Given the description of an element on the screen output the (x, y) to click on. 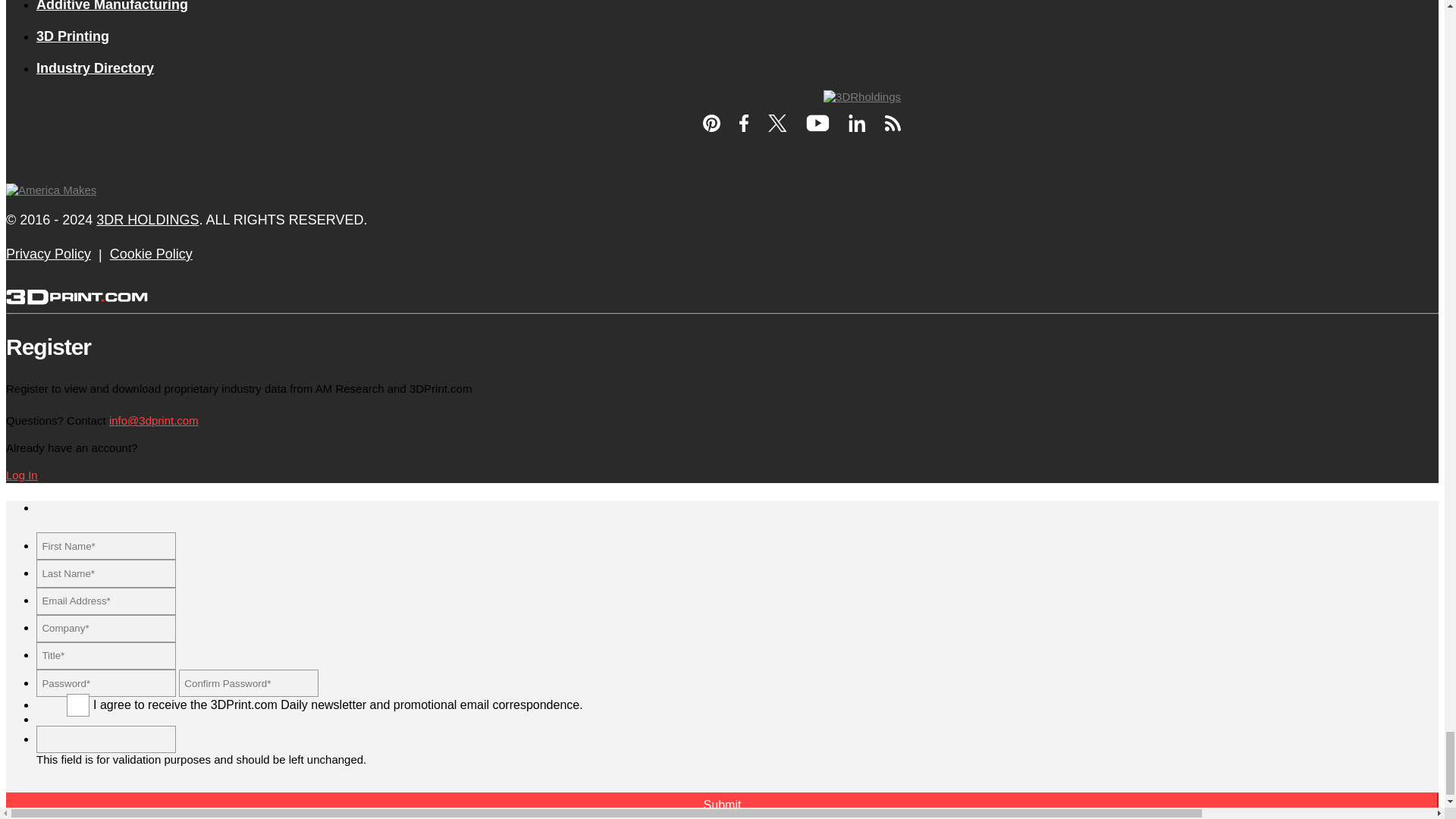
Submit (721, 805)
